Given the description of an element on the screen output the (x, y) to click on. 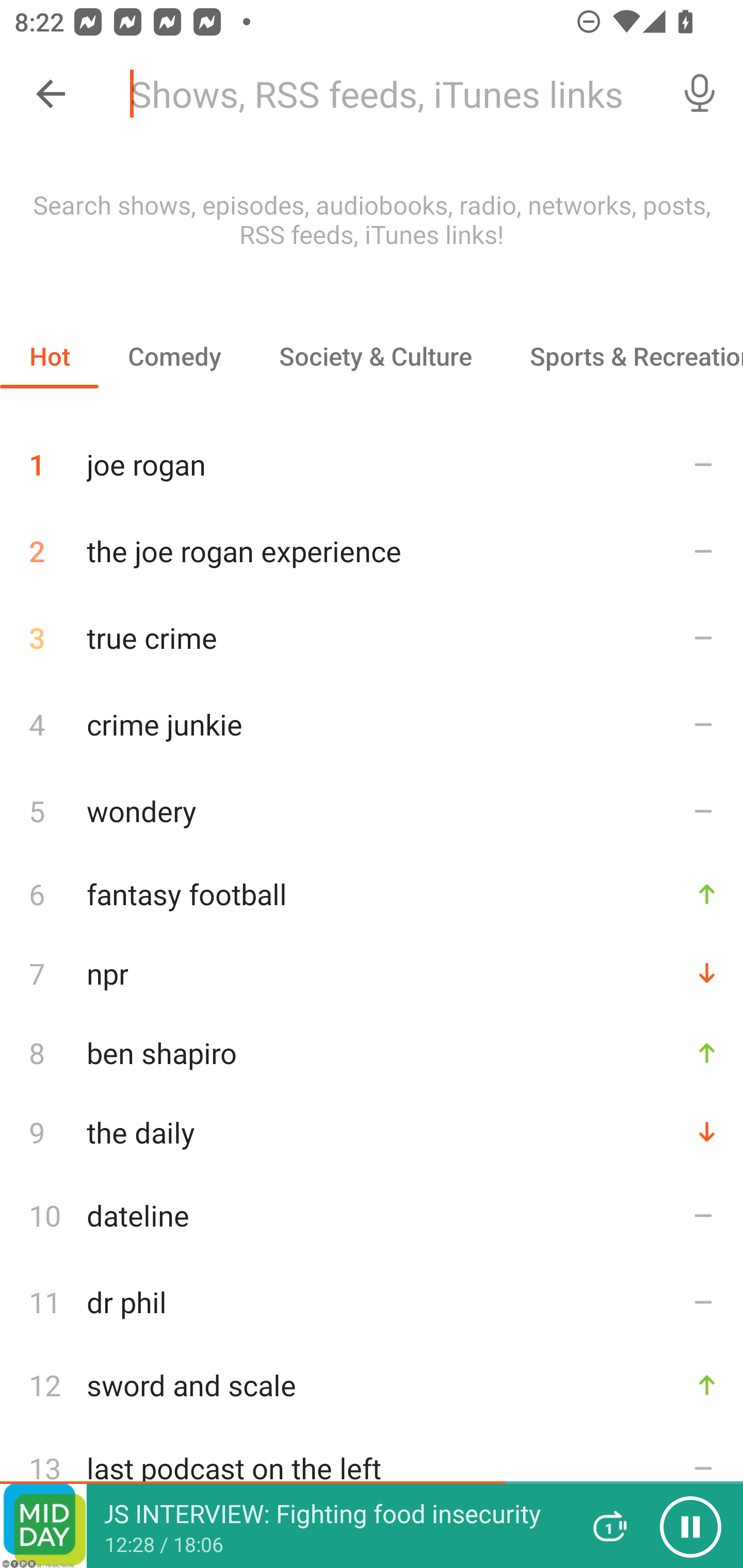
Collapse (50, 93)
Voice Search (699, 93)
Shows, RSS feeds, iTunes links (385, 94)
Hot (49, 355)
Comedy (173, 355)
Society & Culture (374, 355)
Sports & Recreation (621, 355)
1 joe rogan (371, 457)
2 the joe rogan experience (371, 551)
3 true crime (371, 637)
4 crime junkie (371, 723)
5 wondery (371, 810)
6 fantasy football (371, 893)
7 npr (371, 972)
8 ben shapiro (371, 1052)
9 the daily (371, 1131)
10 dateline (371, 1215)
11 dr phil (371, 1302)
12 sword and scale (371, 1385)
Pause (690, 1526)
